Given the description of an element on the screen output the (x, y) to click on. 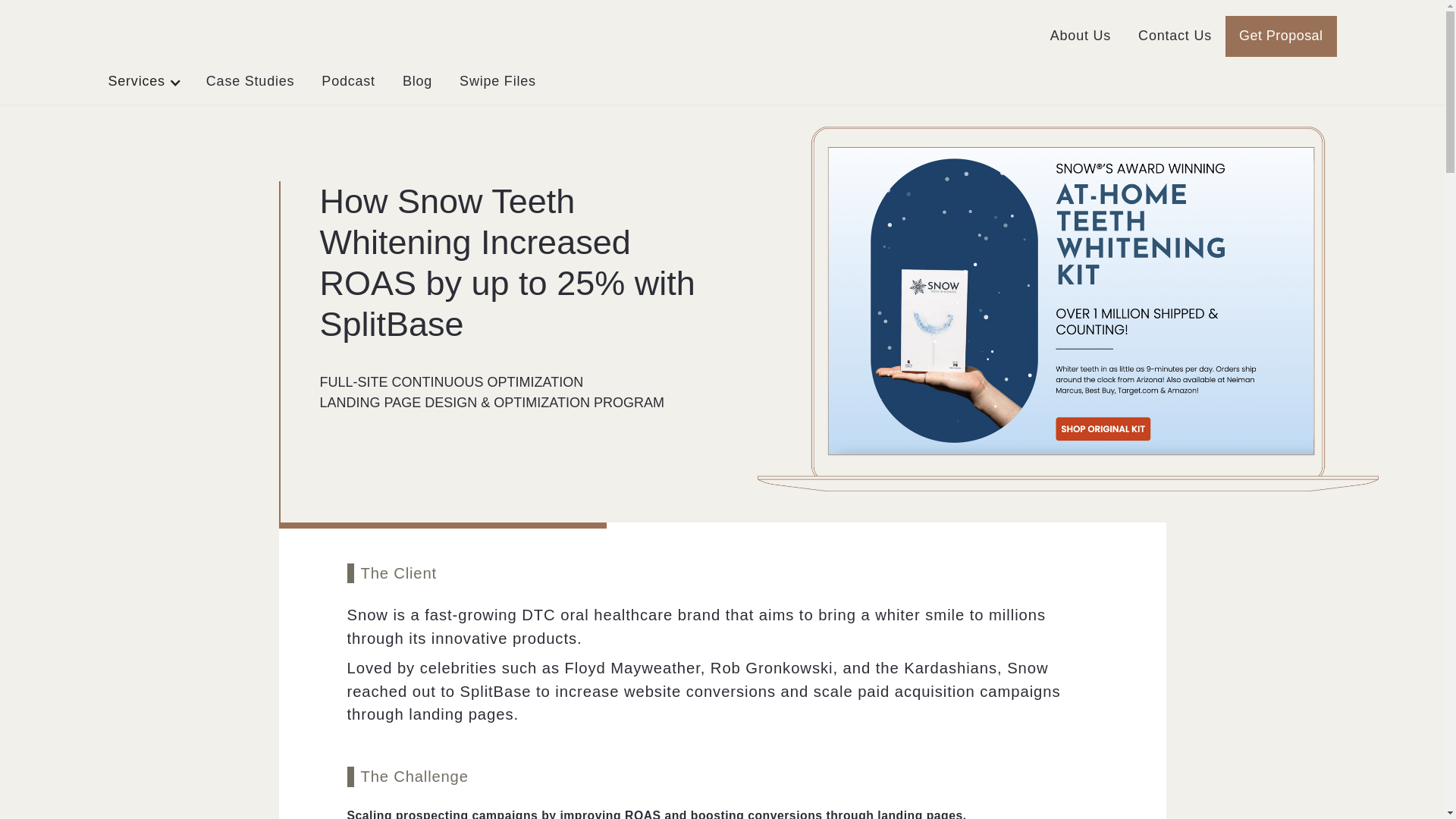
Case Studies (250, 81)
Contact Us (1174, 35)
Get Proposal (1280, 35)
About Us (1080, 35)
Swipe Files (497, 81)
Blog (416, 81)
Podcast (347, 81)
